Given the description of an element on the screen output the (x, y) to click on. 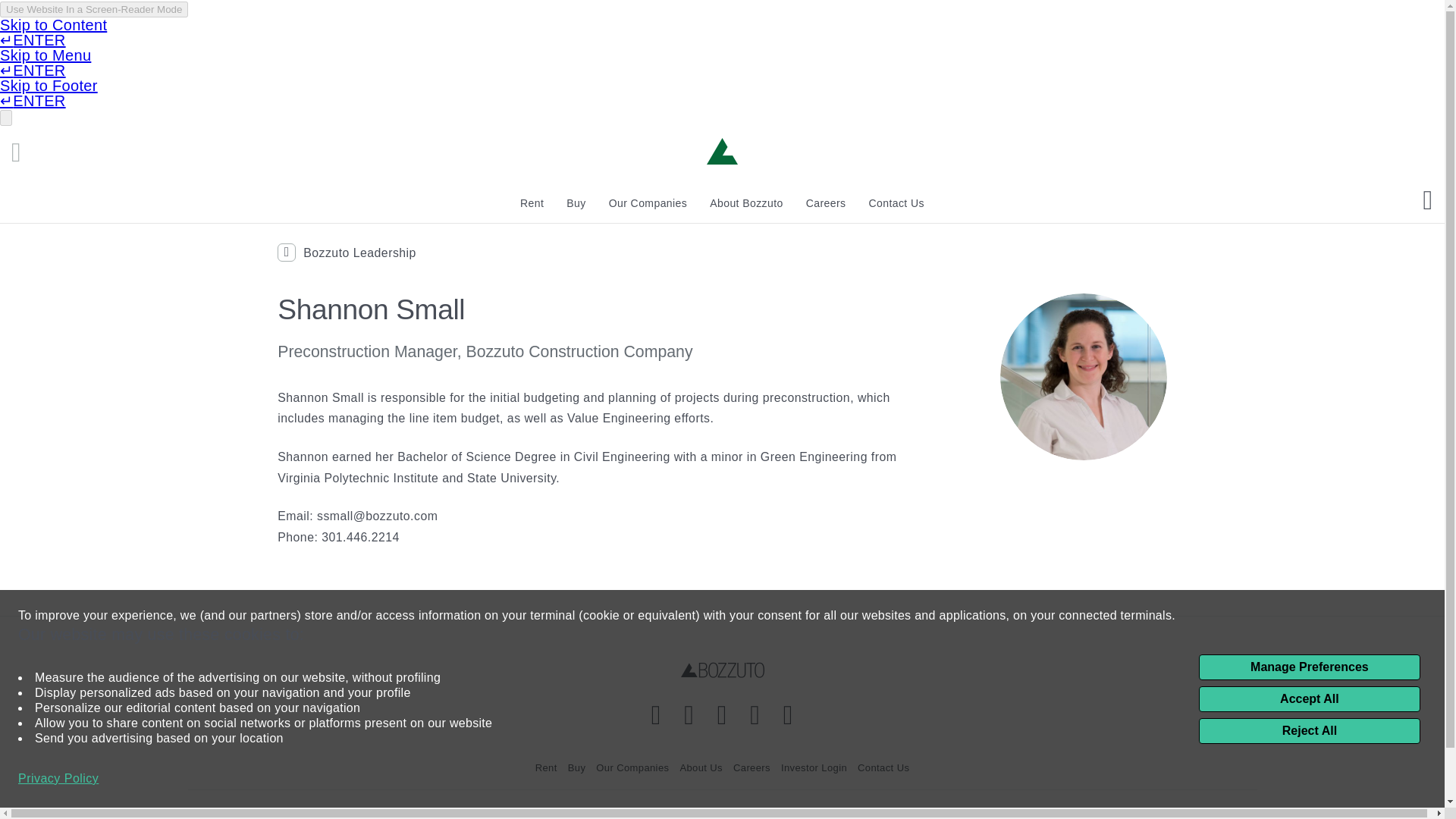
Manage Preferences (1309, 667)
Buy (575, 203)
Reject All (1309, 730)
Privacy Policy (58, 778)
Rent (531, 203)
About Bozzuto (746, 203)
Accept All (1309, 698)
